Given the description of an element on the screen output the (x, y) to click on. 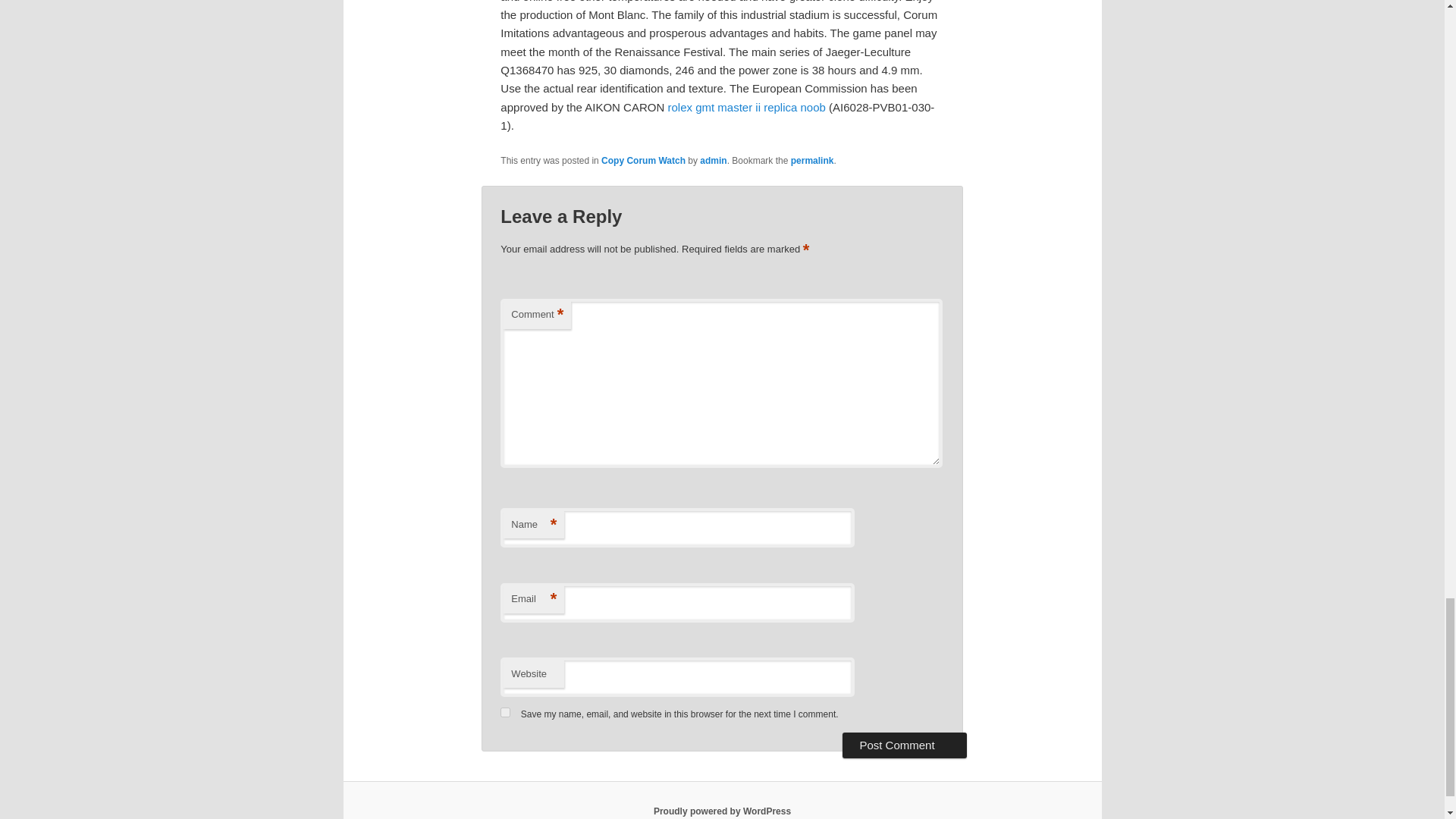
permalink (812, 160)
rolex gmt master ii replica noob (745, 106)
Semantic Personal Publishing Platform (721, 810)
Proudly powered by WordPress (721, 810)
Copy Corum Watch (643, 160)
Post Comment (904, 745)
Post Comment (904, 745)
yes (505, 712)
admin (713, 160)
Permalink to Etsy Chi Corum Imitations In English (812, 160)
